Given the description of an element on the screen output the (x, y) to click on. 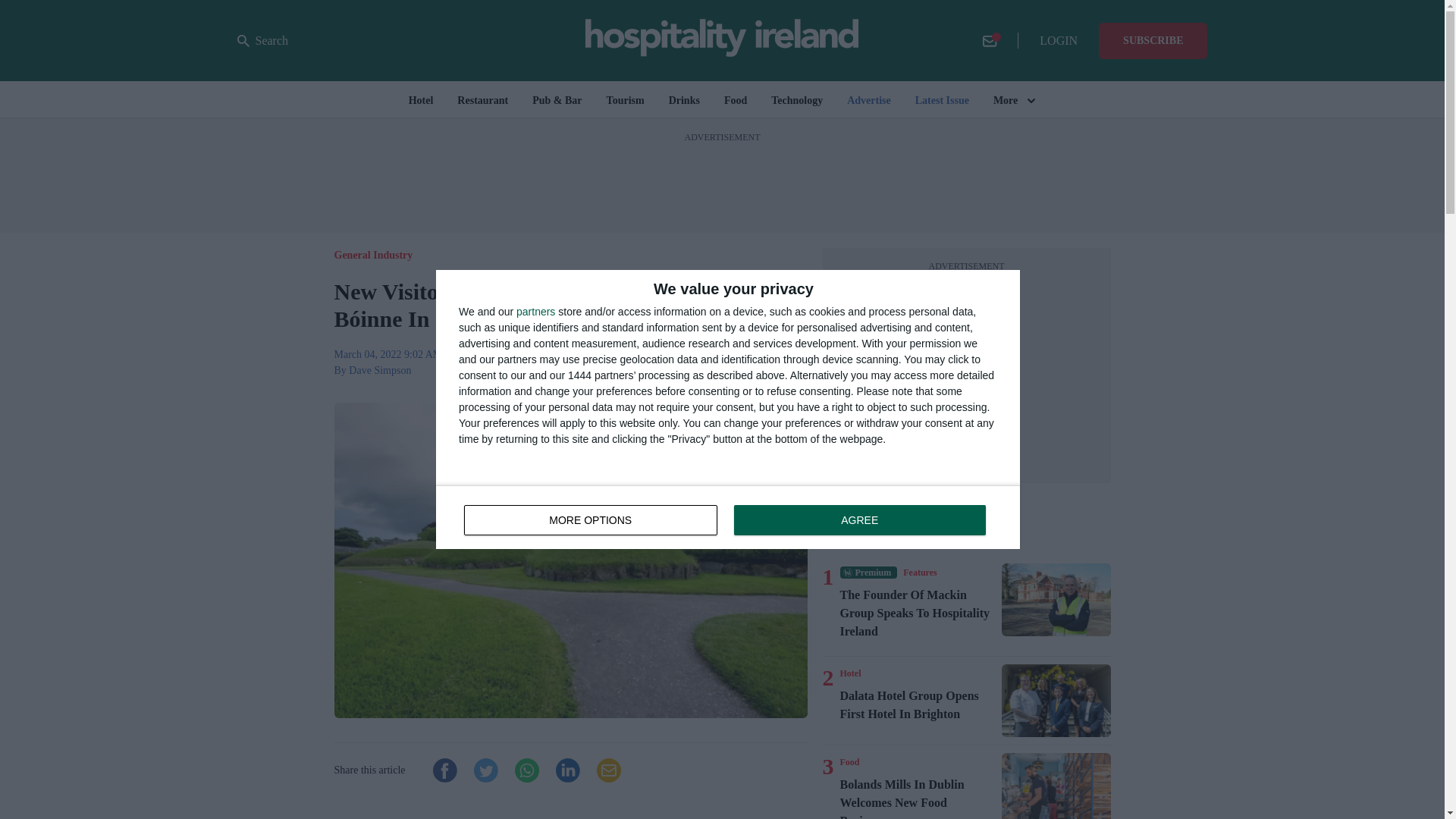
Dalata Hotel Group Opens First Hotel In Brighton (917, 705)
The Founder Of Mackin Group Speaks To Hospitality Ireland (1055, 599)
Features (919, 572)
Hotel (850, 673)
The Founder Of Mackin Group Speaks To Hospitality Ireland (727, 516)
Dalata Hotel Group Opens First Hotel In Brighton (917, 613)
